Given the description of an element on the screen output the (x, y) to click on. 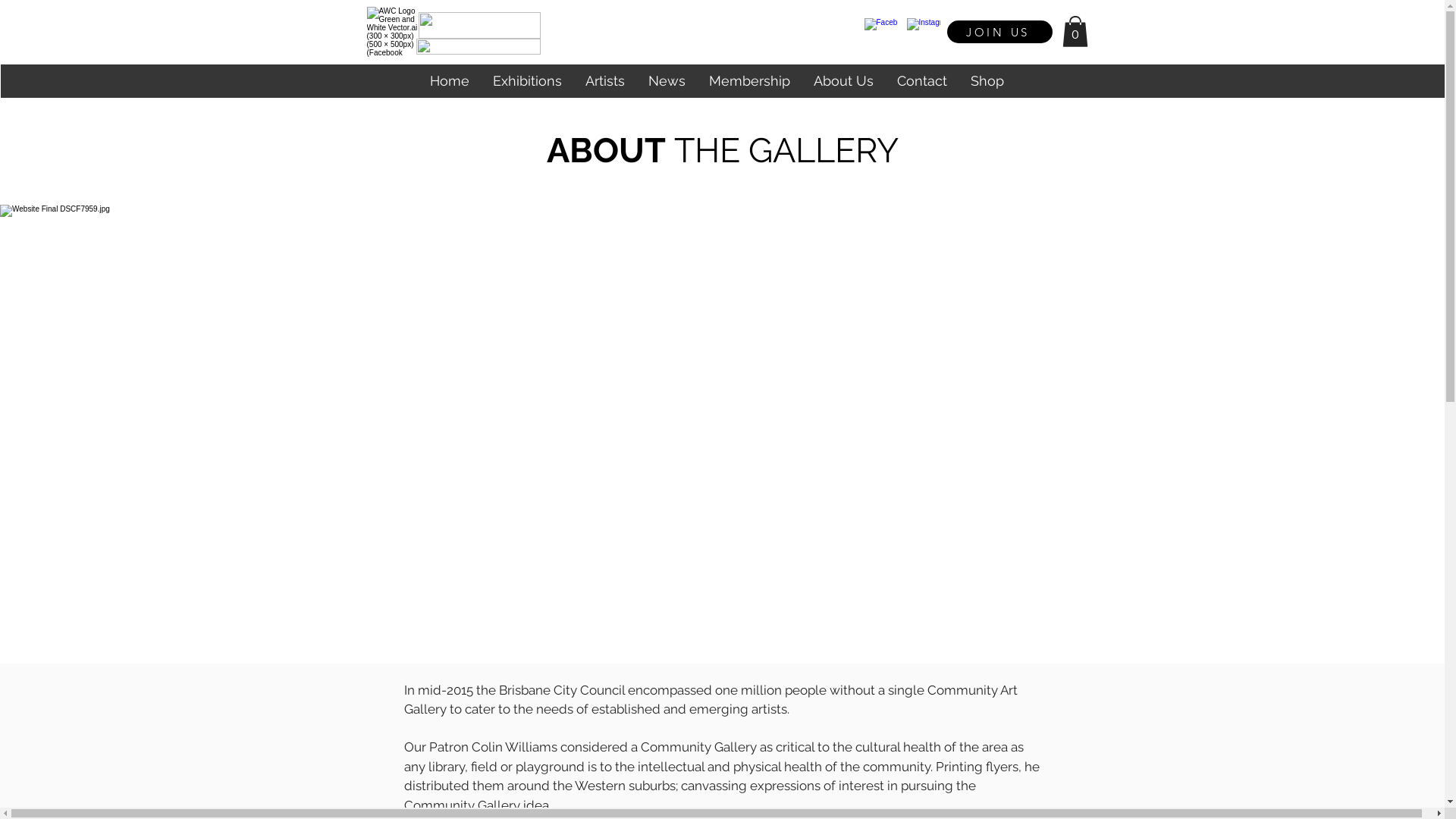
Exhibitions Element type: text (526, 80)
About Us Element type: text (842, 80)
Contact Element type: text (920, 80)
Home Element type: text (448, 80)
News Element type: text (665, 80)
JOIN US Element type: text (998, 31)
0 Element type: text (1074, 31)
Membership Element type: text (748, 80)
Untitled design (44).png Element type: hover (477, 46)
Artists Element type: text (604, 80)
Untitled design (43).png Element type: hover (479, 25)
Shop Element type: text (986, 80)
